Given the description of an element on the screen output the (x, y) to click on. 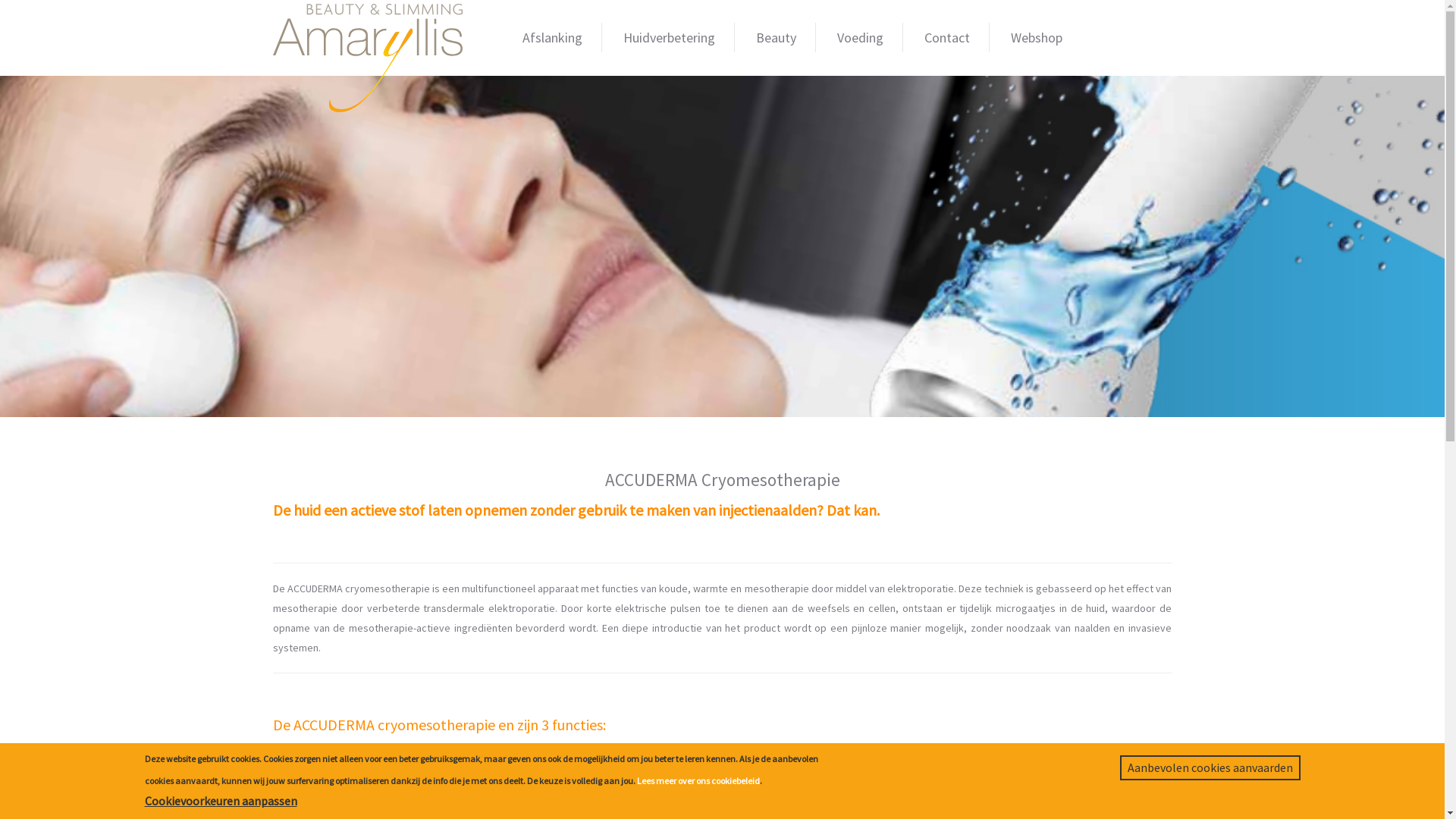
Voeding Element type: text (860, 37)
Webshop Element type: text (1036, 37)
Cookievoorkeuren aanpassen Element type: text (220, 801)
Overslaan en naar de inhoud gaan Element type: text (86, 0)
Afslanking Element type: text (552, 37)
Beauty Element type: text (776, 37)
Aanbevolen cookies aanvaarden Element type: text (1209, 767)
Lees meer over ons cookiebeleid Element type: text (698, 780)
Contact Element type: text (947, 37)
Huidverbetering Element type: text (669, 37)
